Given the description of an element on the screen output the (x, y) to click on. 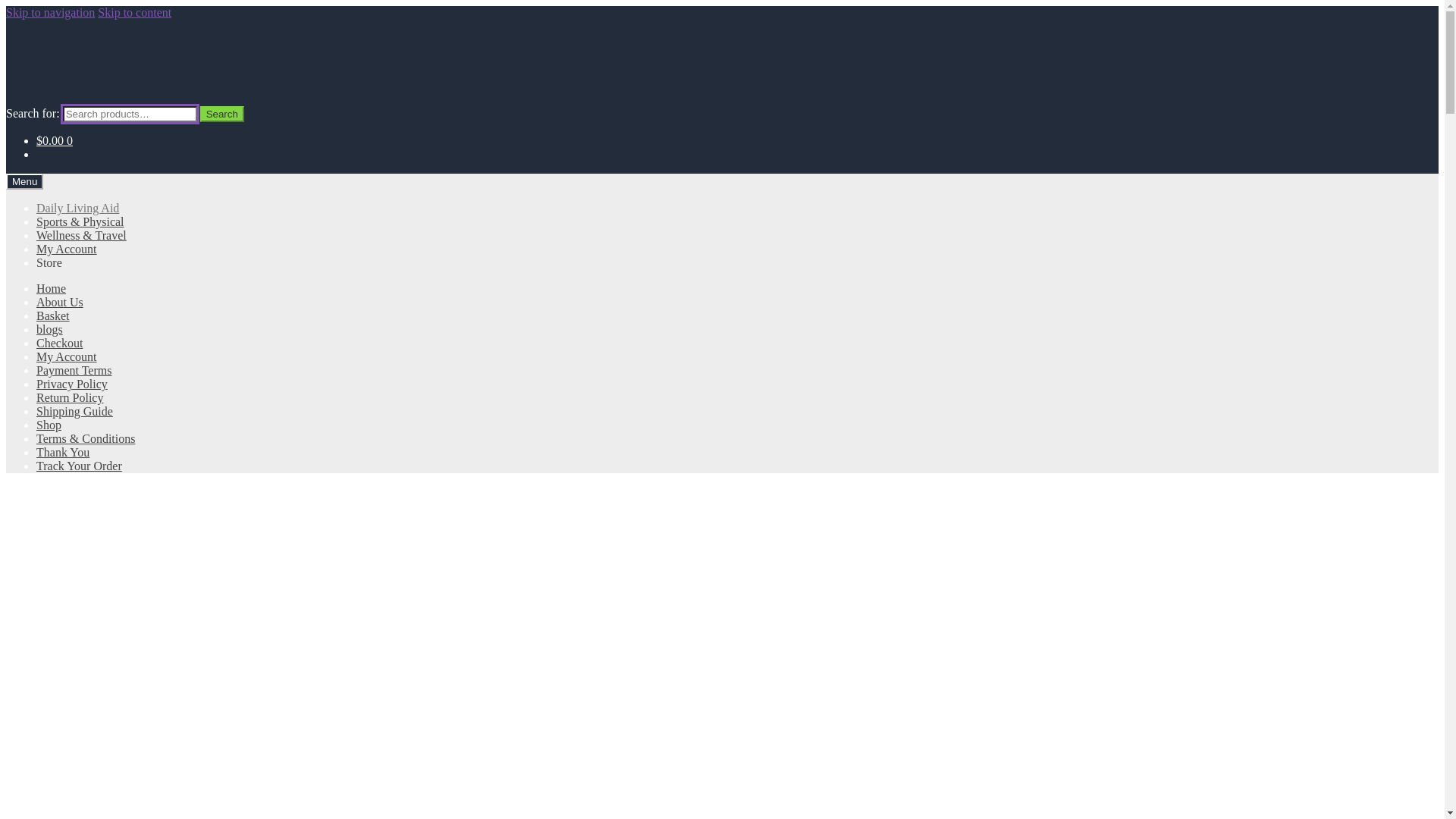
Terms & Conditions Element type: text (85, 438)
Return Policy Element type: text (69, 397)
$0.00 0 Element type: text (54, 140)
Search Element type: text (222, 114)
About Us Element type: text (59, 301)
blogs Element type: text (49, 329)
Skip to navigation Element type: text (50, 12)
Thank You Element type: text (62, 451)
Track Your Order Element type: text (79, 465)
Menu Element type: text (24, 181)
Privacy Policy Element type: text (71, 383)
Store Element type: text (49, 262)
Shipping Guide Element type: text (74, 410)
Payment Terms Element type: text (73, 370)
My Account Element type: text (66, 356)
Checkout Element type: text (59, 342)
Sports & Physical Element type: text (80, 221)
Shop Element type: text (48, 424)
Home Element type: text (50, 288)
Skip to content Element type: text (134, 12)
Basket Element type: text (52, 315)
My Account Element type: text (66, 248)
Daily Living Aid Element type: text (77, 207)
Wellness & Travel Element type: text (81, 235)
